Given the description of an element on the screen output the (x, y) to click on. 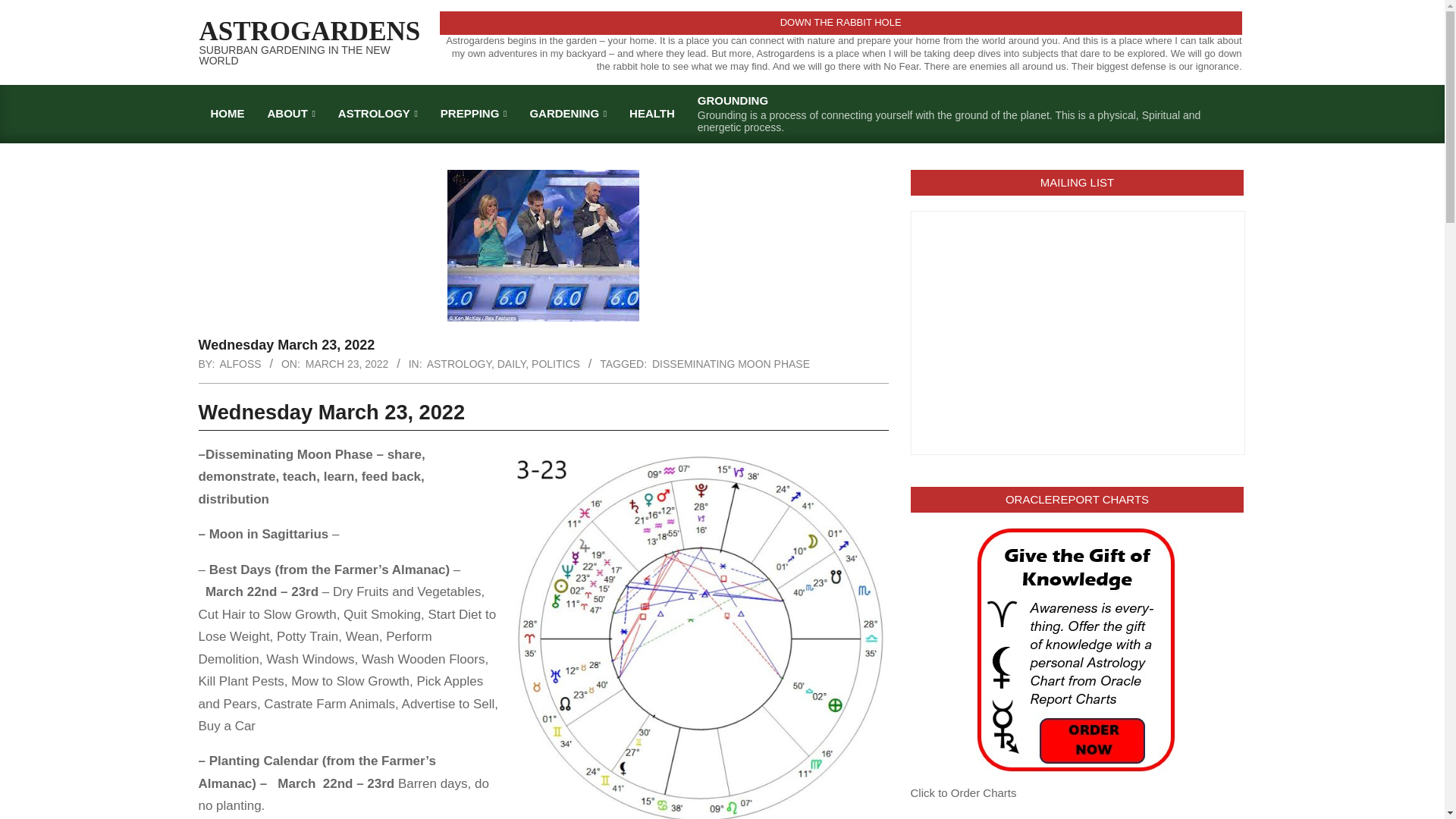
ASTROLOGY (377, 113)
ASTROLOGY (459, 363)
DISSEMINATING MOON PHASE (730, 363)
GARDENING (567, 113)
PREPPING (473, 113)
HEALTH (651, 113)
POLITICS (555, 363)
HOME (227, 113)
ABOUT (291, 113)
ASTROGARDENS (309, 30)
DAILY (511, 363)
Posts by alfoss (239, 363)
ALFOSS (239, 363)
Wednesday, March 23, 2022, 10:25 am (346, 363)
